Given the description of an element on the screen output the (x, y) to click on. 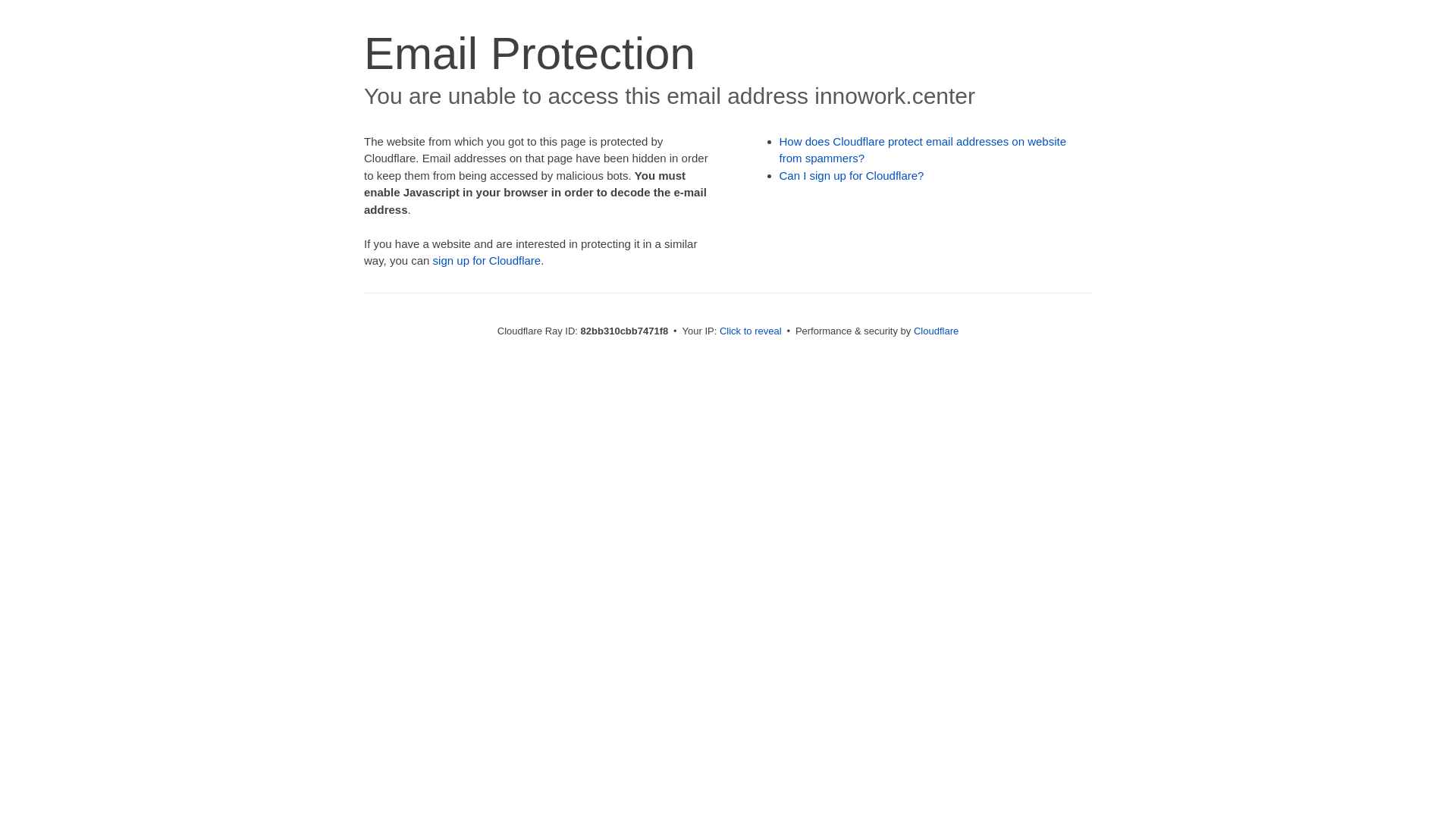
sign up for Cloudflare Element type: text (487, 260)
Can I sign up for Cloudflare? Element type: text (851, 175)
Click to reveal Element type: text (750, 330)
Cloudflare Element type: text (935, 330)
